Given the description of an element on the screen output the (x, y) to click on. 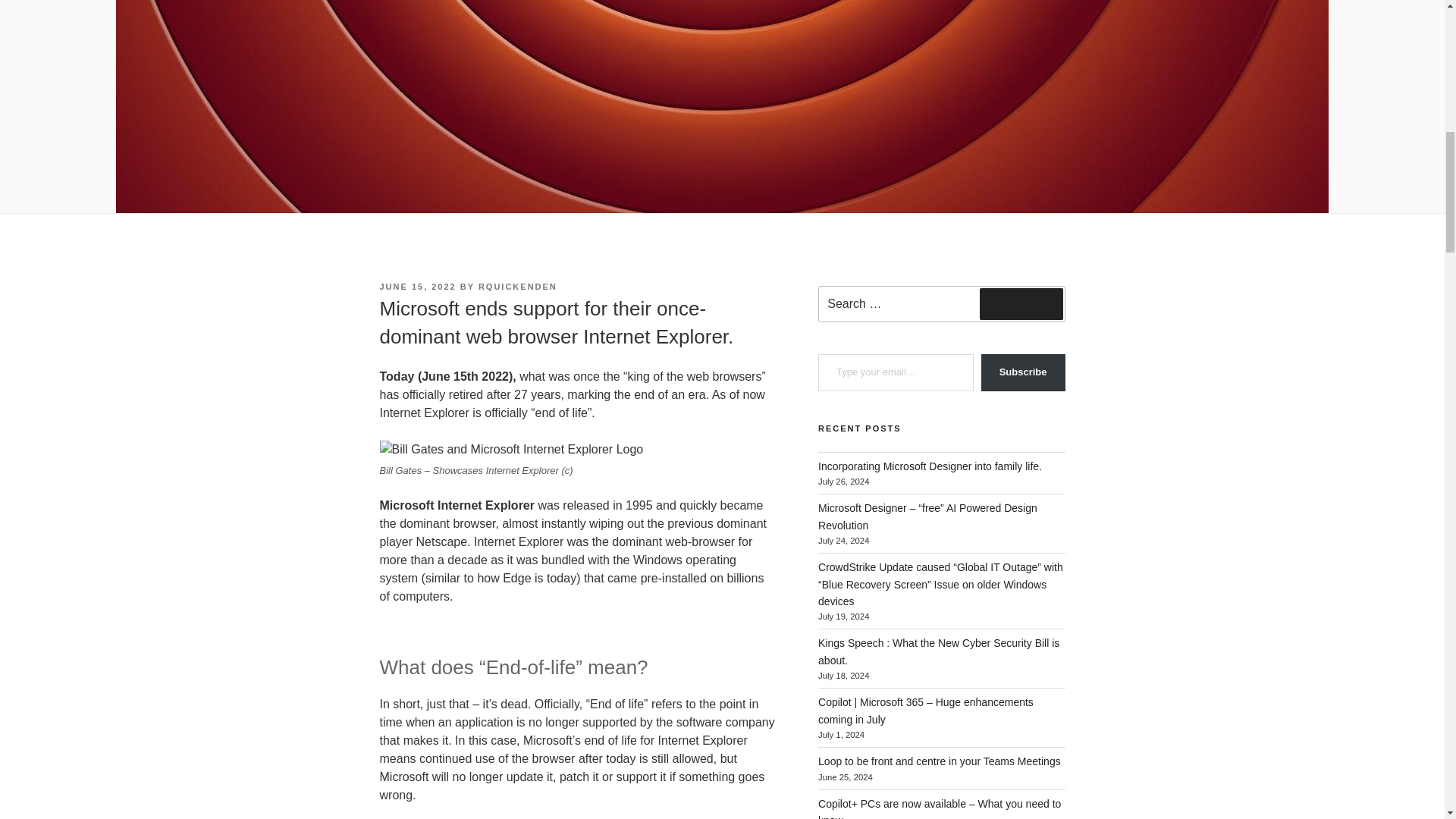
Incorporating Microsoft Designer into family life. (930, 466)
Subscribe (1023, 372)
JUNE 15, 2022 (416, 286)
Loop to be front and centre in your Teams Meetings (939, 761)
Search (1020, 304)
Kings Speech : What the New Cyber Security Bill is about. (938, 651)
RQUICKENDEN (518, 286)
Please fill in this field. (896, 372)
